Given the description of an element on the screen output the (x, y) to click on. 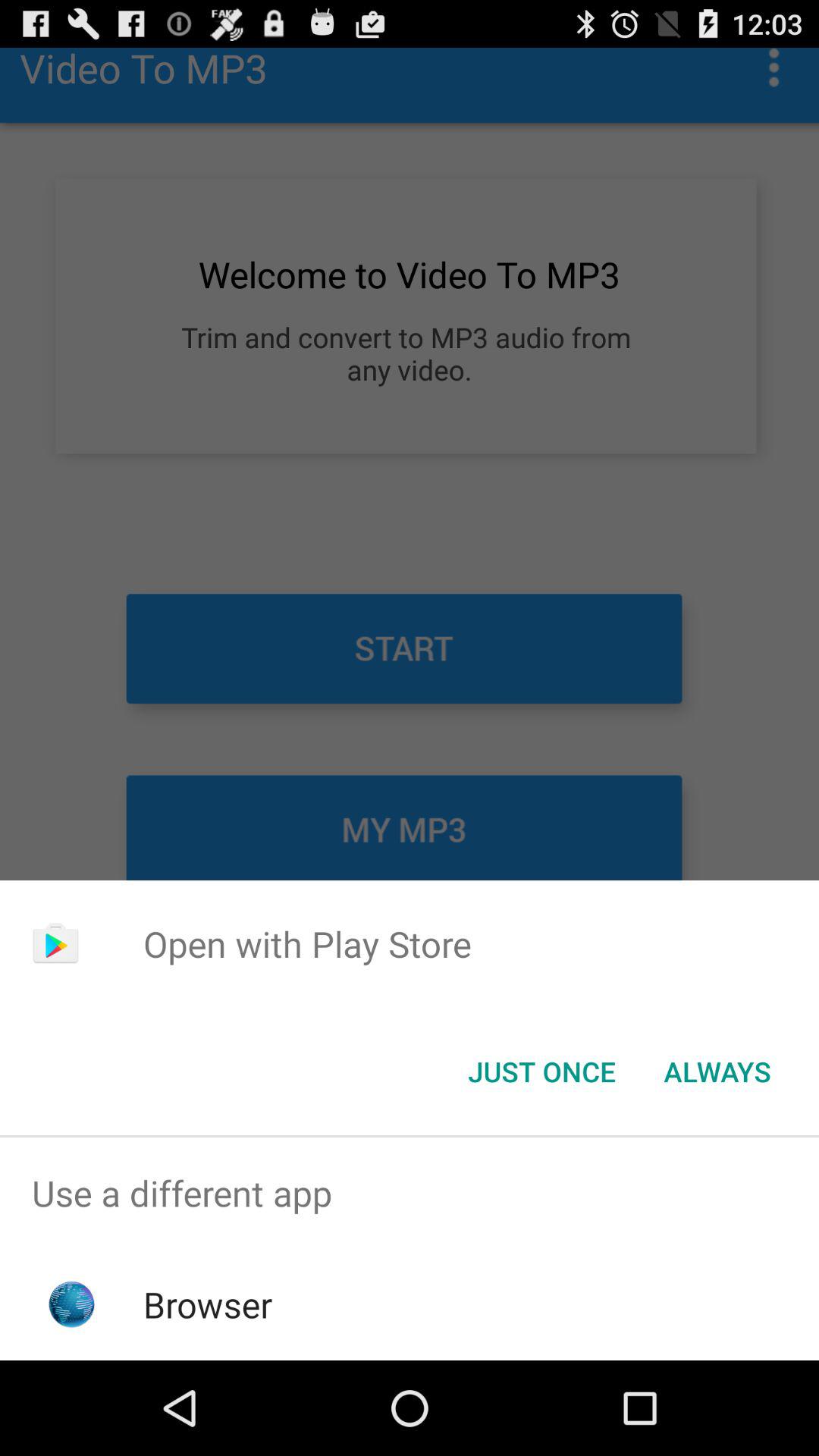
swipe until just once item (541, 1071)
